Given the description of an element on the screen output the (x, y) to click on. 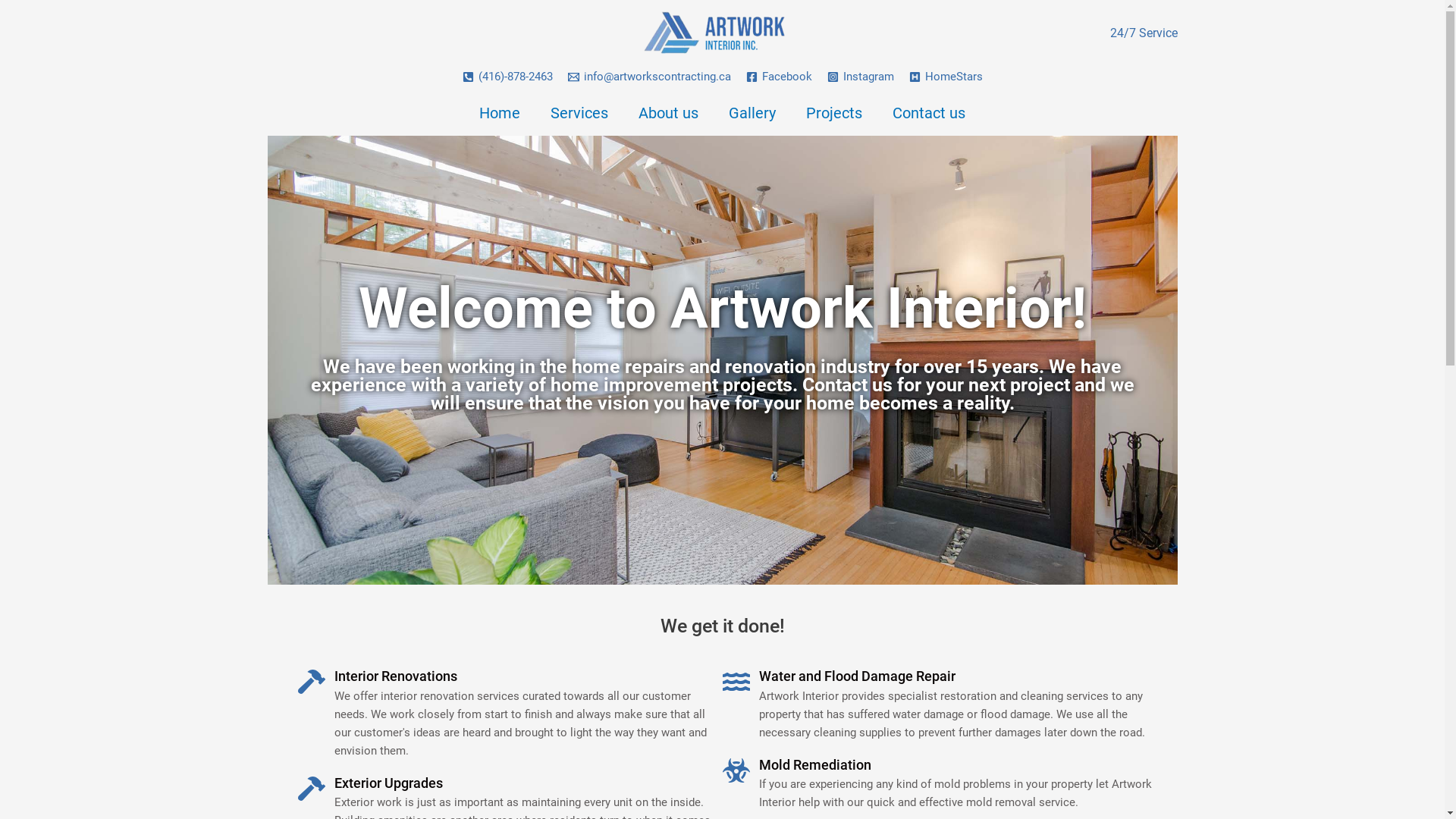
(416)-878-2463 Element type: text (507, 76)
Projects Element type: text (833, 112)
Facebook Element type: text (779, 76)
info@artworkscontracting.ca Element type: text (648, 76)
Home Element type: text (499, 112)
Instagram Element type: text (859, 76)
HomeStars Element type: text (945, 76)
Services Element type: text (579, 112)
About us Element type: text (668, 112)
Contact us Element type: text (928, 112)
Gallery Element type: text (751, 112)
